Given the description of an element on the screen output the (x, y) to click on. 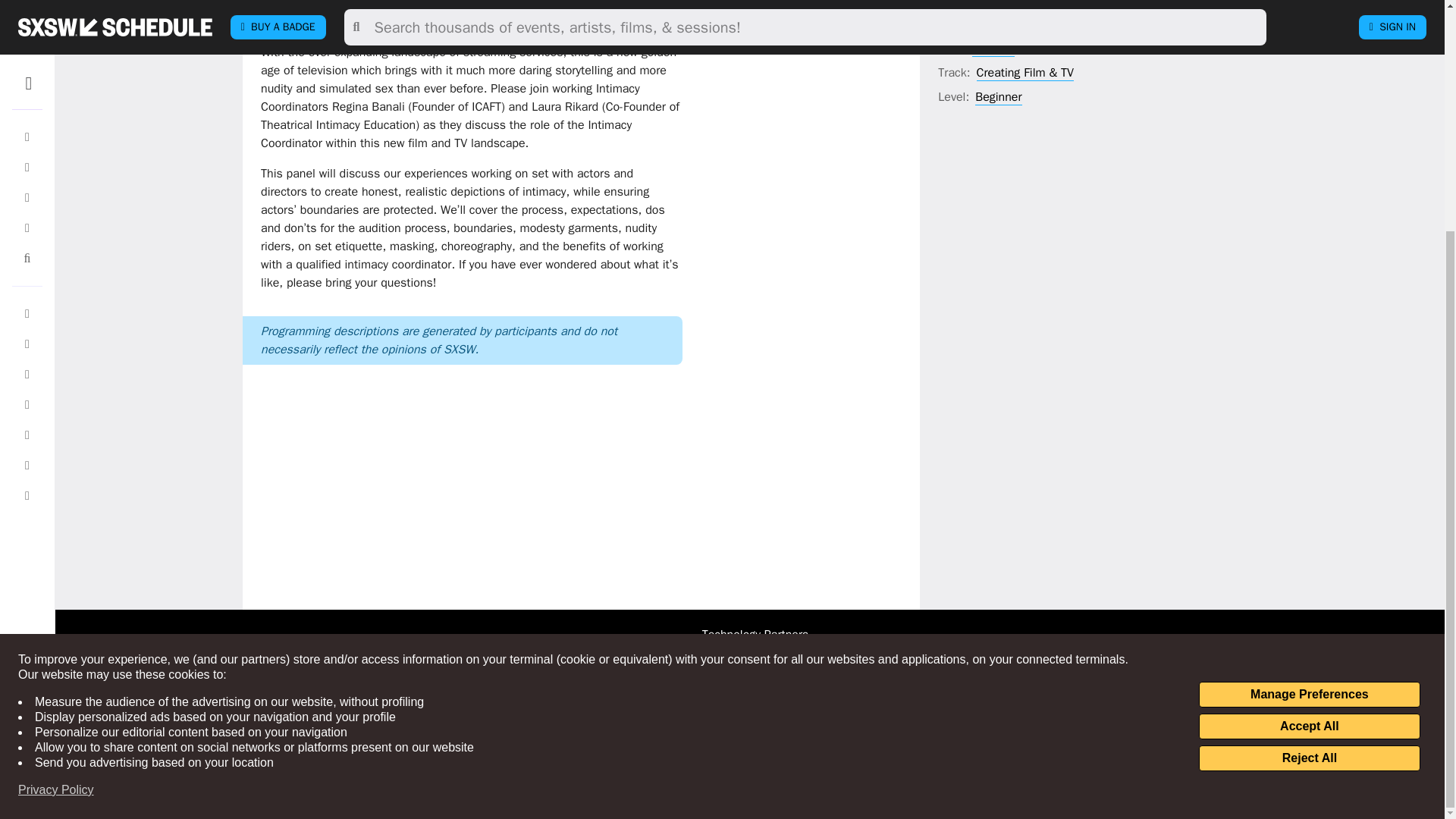
Manage Preferences (1309, 381)
Privacy Policy (55, 477)
Accept All (1309, 413)
Reject All (1309, 445)
